Given the description of an element on the screen output the (x, y) to click on. 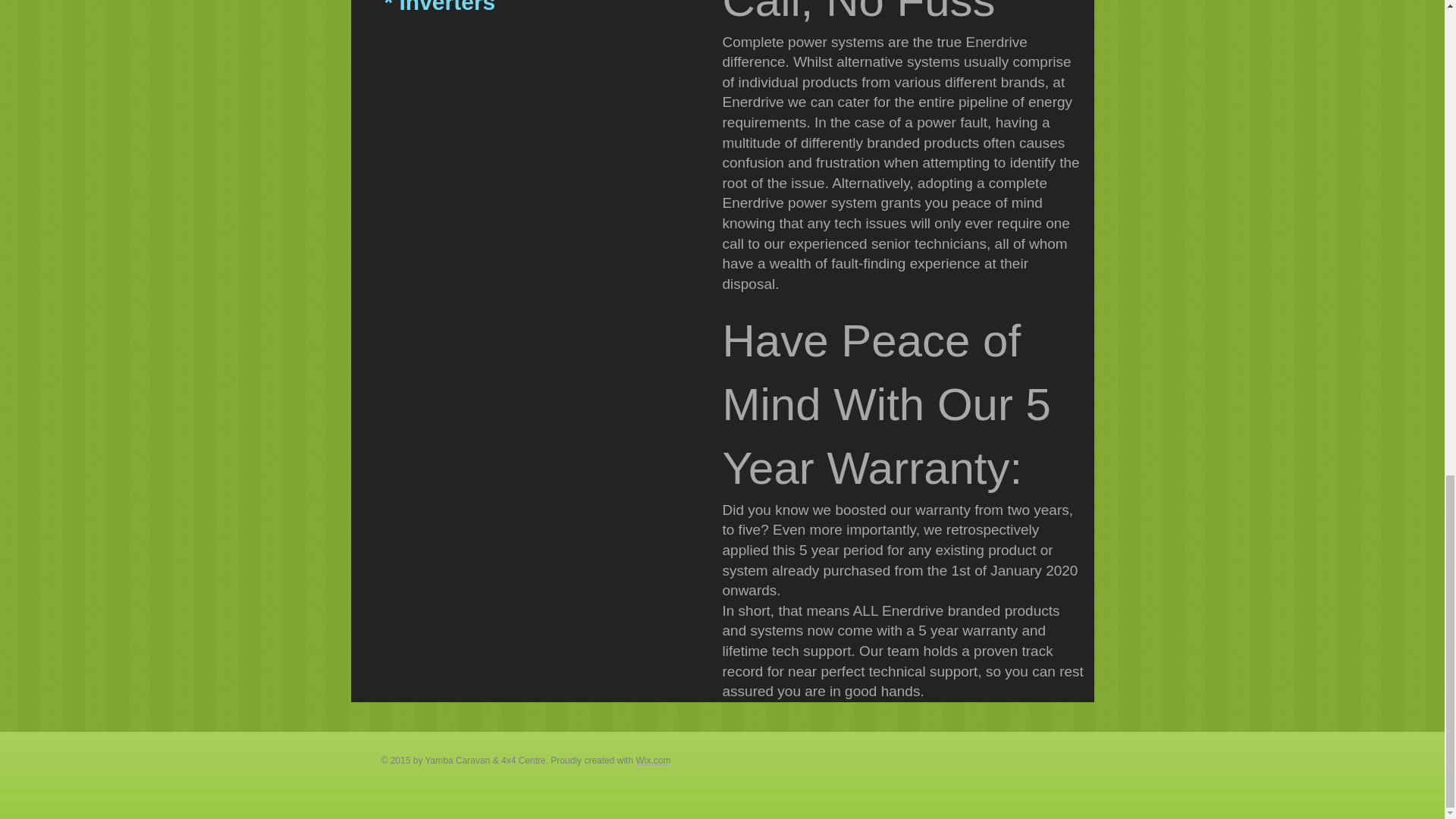
Wix.com (651, 760)
